Given the description of an element on the screen output the (x, y) to click on. 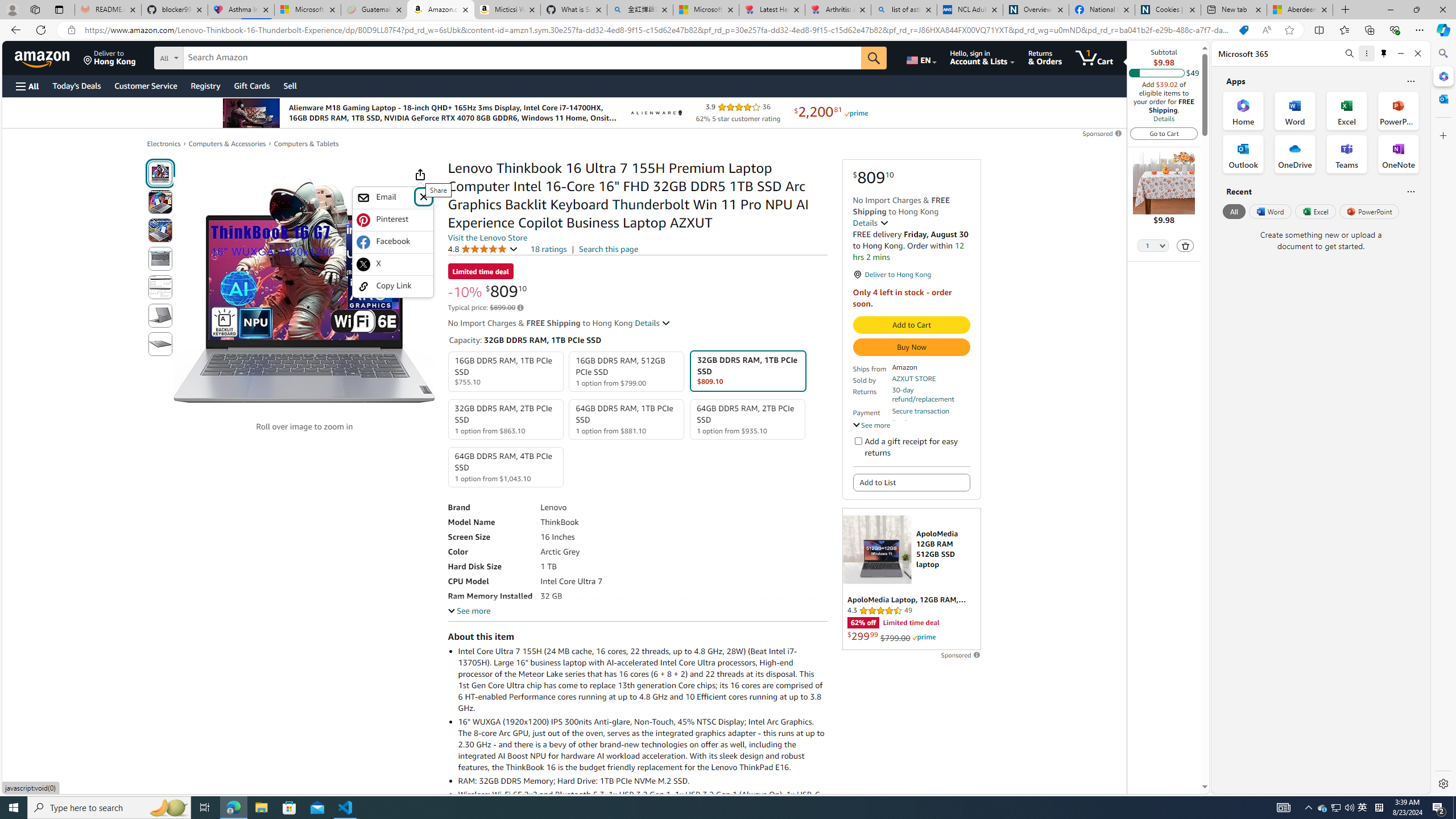
Word (1269, 210)
Electronics (163, 143)
Learn more about Amazon pricing and savings (520, 307)
30-day refund/replacement (930, 394)
Customer Service (145, 85)
Computers & Tablets (306, 144)
4.8 4.8 out of 5 stars (482, 248)
You have the best price! (1243, 29)
